Given the description of an element on the screen output the (x, y) to click on. 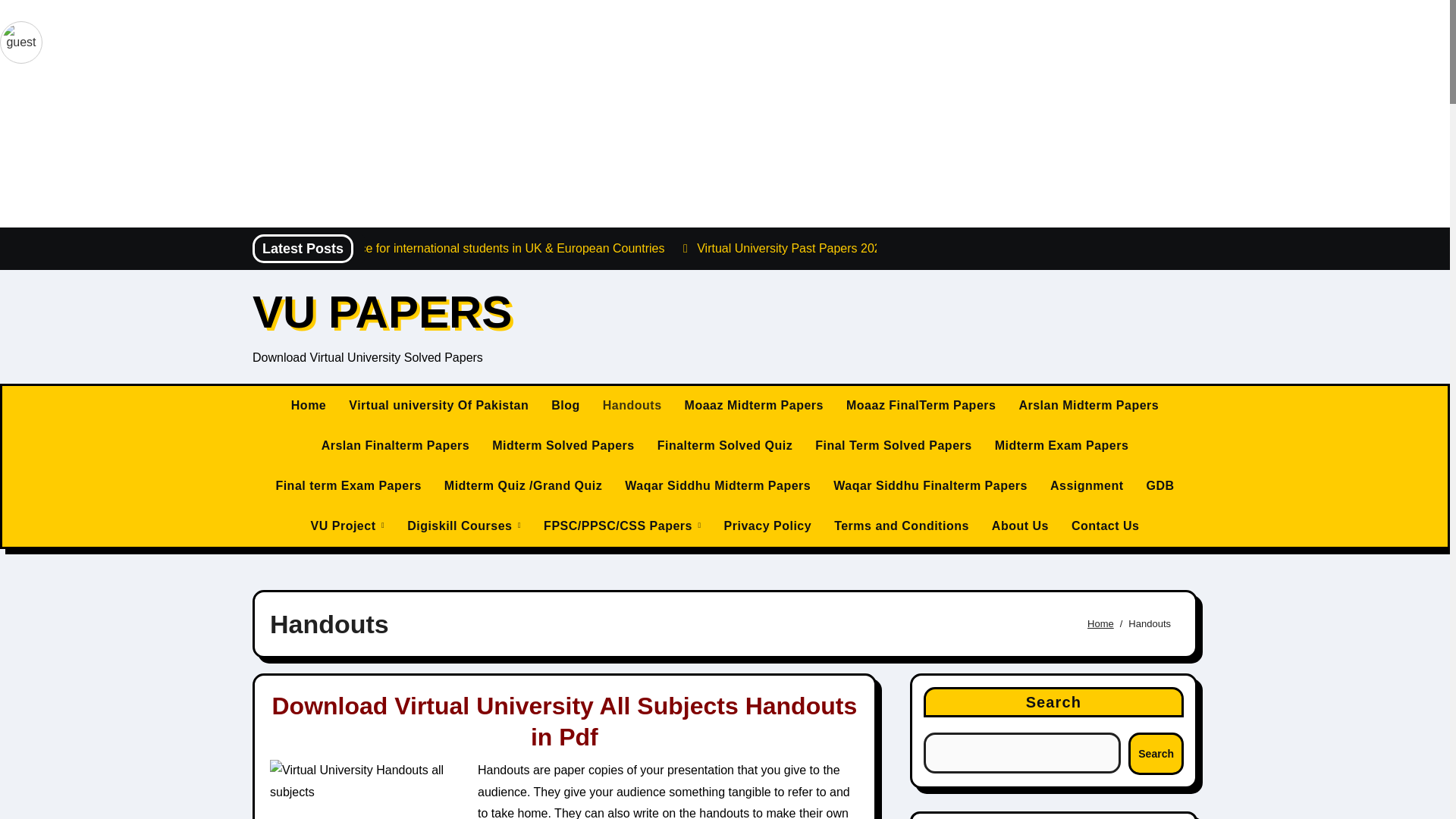
Finalterm Solved Quiz (725, 445)
Moaaz FinalTerm Papers (920, 405)
Arslan Finalterm Papers (395, 445)
Handouts (631, 405)
Moaaz FinalTerm Papers (920, 405)
Arslan Midterm Papers (1088, 405)
Moaaz Midterm Papers (753, 405)
Home (308, 405)
Final Term Solved Papers (892, 445)
Midterm Solved Papers (562, 445)
